Given the description of an element on the screen output the (x, y) to click on. 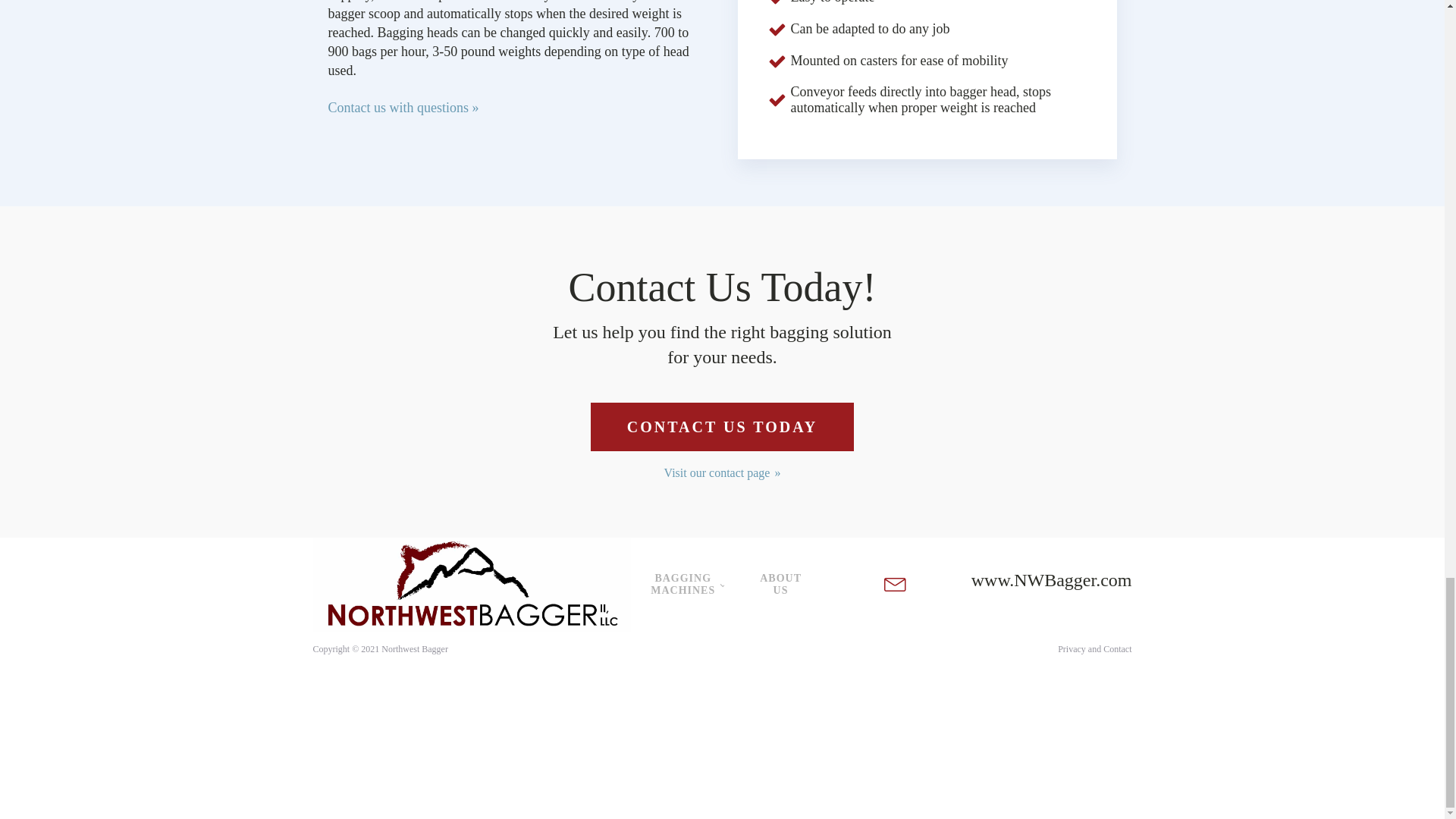
ABOUT US (780, 584)
CONTACT US TODAY (722, 426)
BAGGING MACHINES (686, 584)
www.NWBagger.com (1051, 584)
Visit our contact page (721, 473)
